Given the description of an element on the screen output the (x, y) to click on. 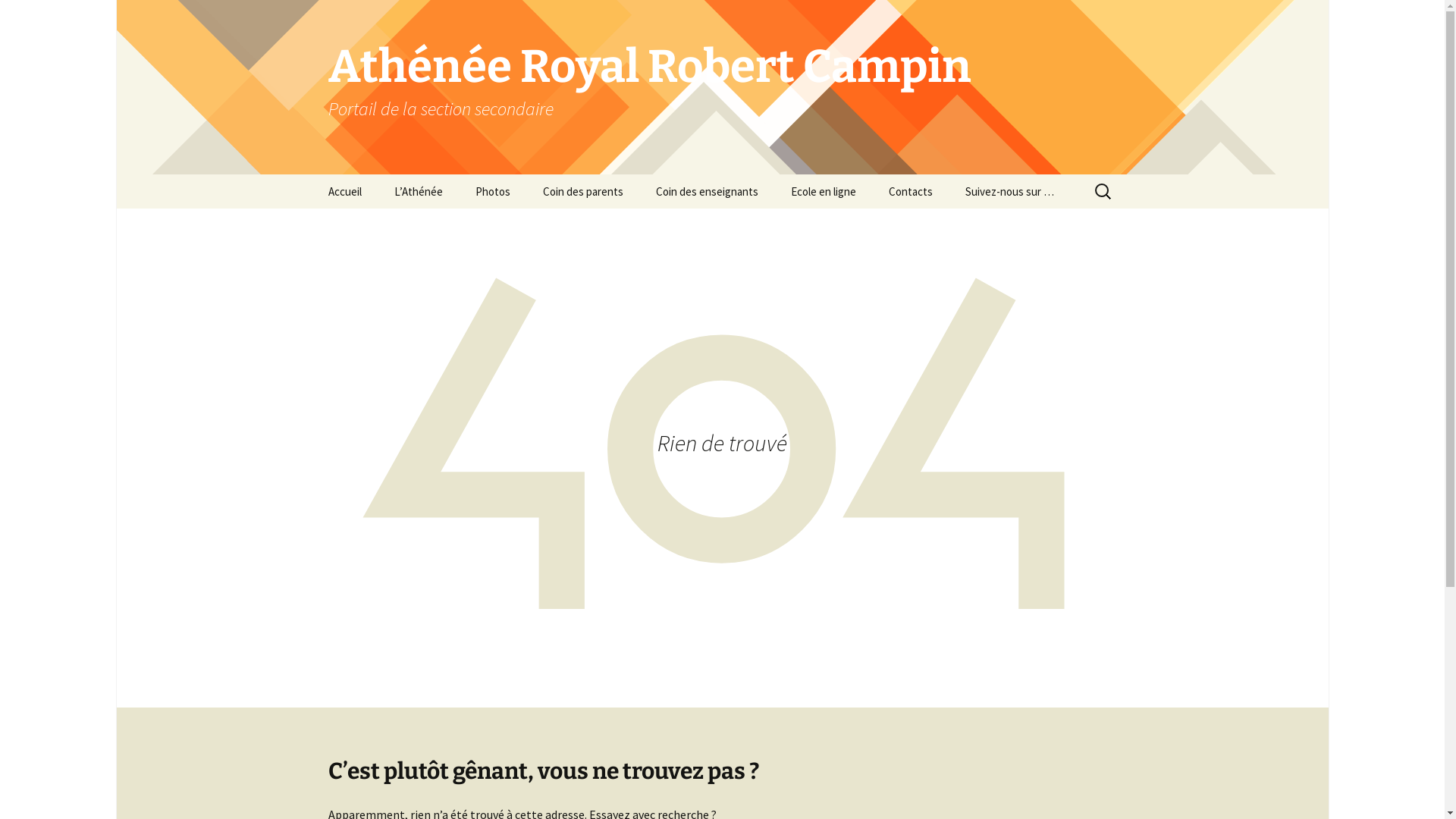
Coin des parents Element type: text (582, 191)
Coin des enseignants Element type: text (706, 191)
Administration du site Element type: text (715, 225)
Le groupe Facebook Element type: text (1025, 225)
Aller au contenu Element type: text (312, 173)
Le fondamental Element type: text (454, 225)
Rechercher Element type: text (47, 16)
Ecole en ligne Element type: text (822, 191)
Contacts Element type: text (910, 191)
Accueil Element type: text (344, 191)
Rechercher Element type: text (18, 16)
Photos Element type: text (491, 191)
